Given the description of an element on the screen output the (x, y) to click on. 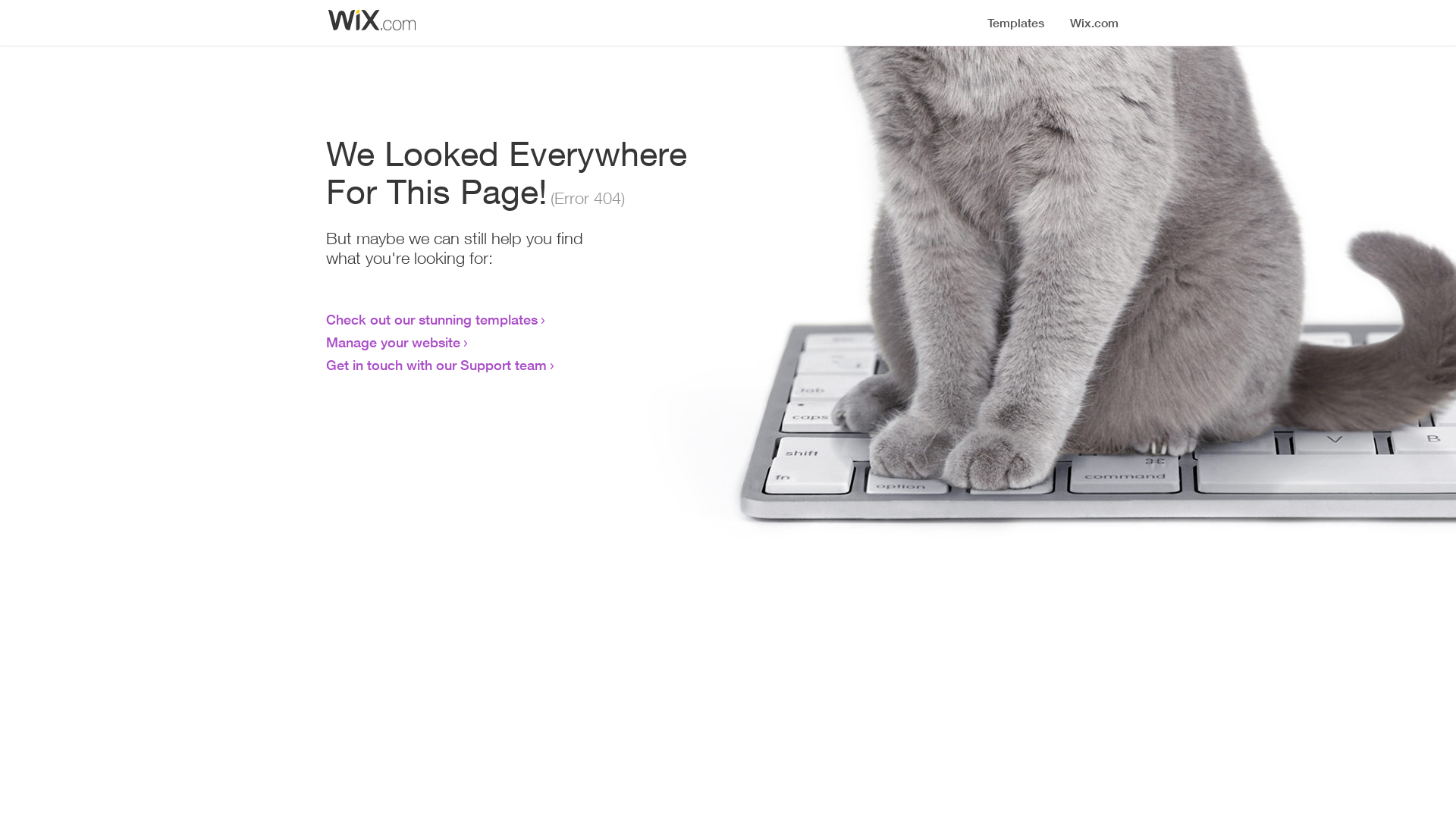
Get in touch with our Support team Element type: text (436, 364)
Manage your website Element type: text (393, 341)
Check out our stunning templates Element type: text (431, 318)
